Given the description of an element on the screen output the (x, y) to click on. 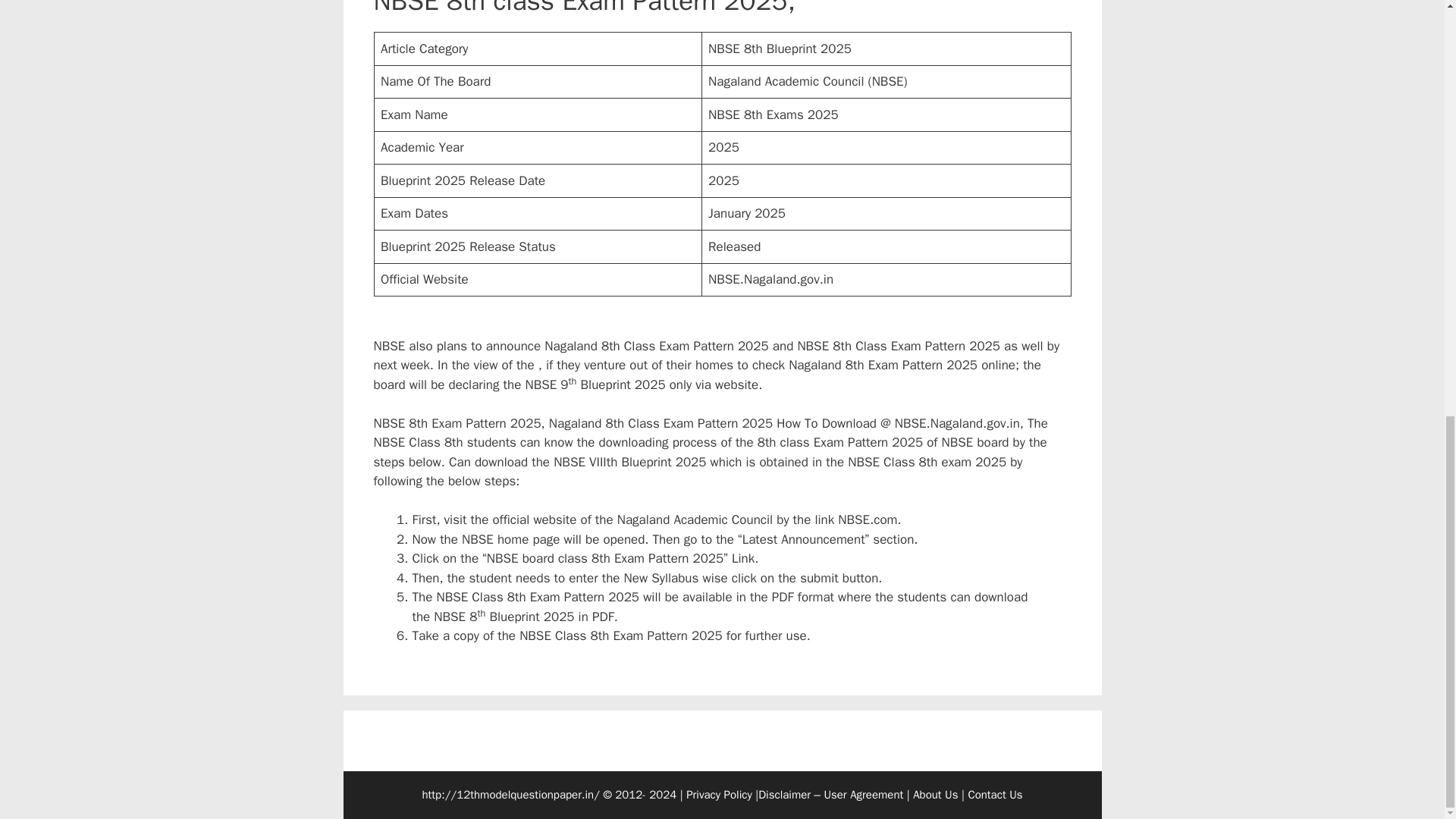
Contact Us (995, 794)
About Us (935, 794)
Privacy Policy (718, 794)
